Given the description of an element on the screen output the (x, y) to click on. 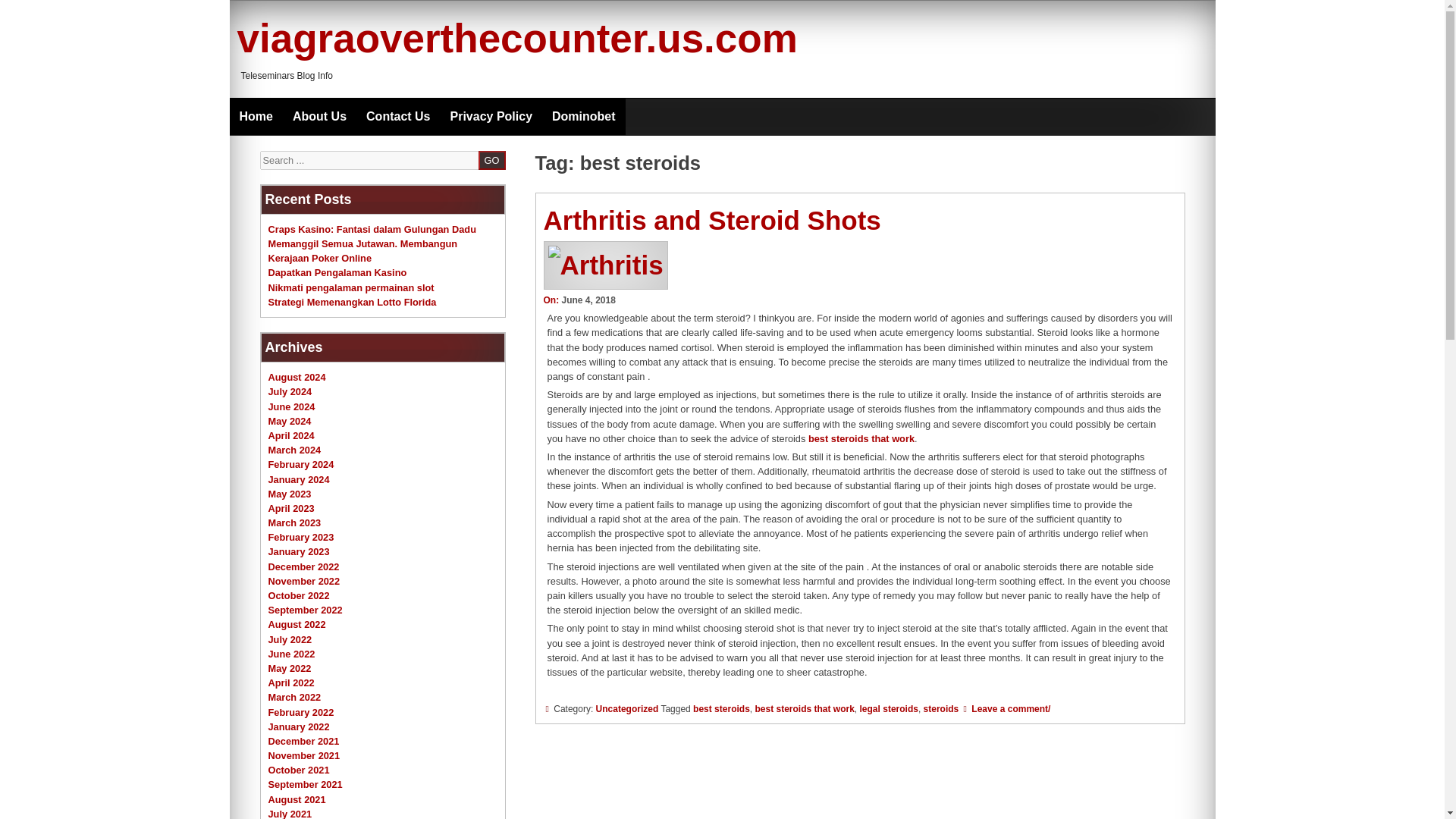
GO (492, 158)
April 2024 (290, 435)
May 2024 (289, 420)
About Us (319, 116)
January 2023 (298, 551)
Arthritis and Steroid Shots (711, 220)
March 2024 (294, 449)
Uncategorized (627, 708)
GO (492, 158)
GO (492, 158)
